Given the description of an element on the screen output the (x, y) to click on. 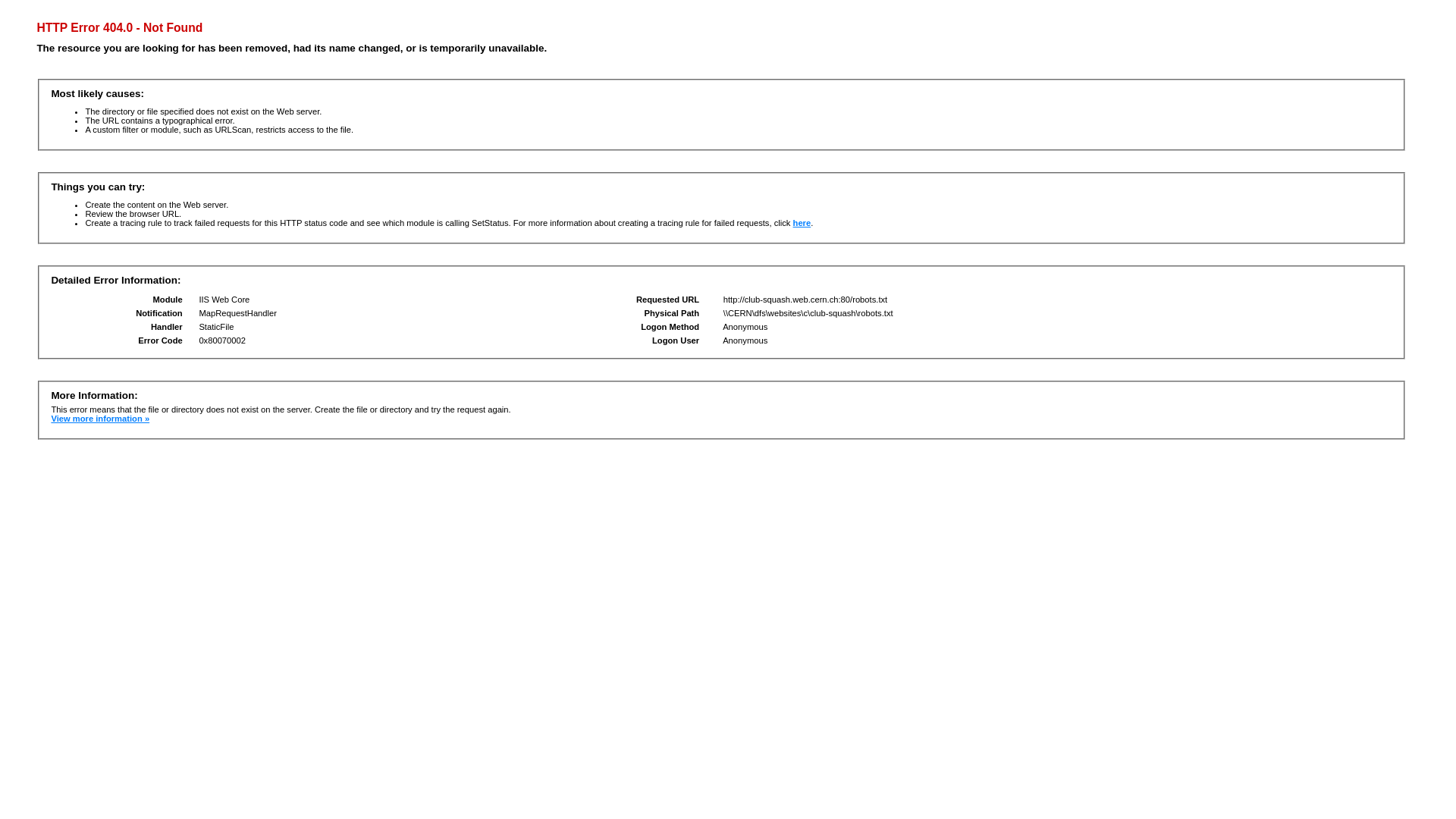
here Element type: text (802, 222)
